Given the description of an element on the screen output the (x, y) to click on. 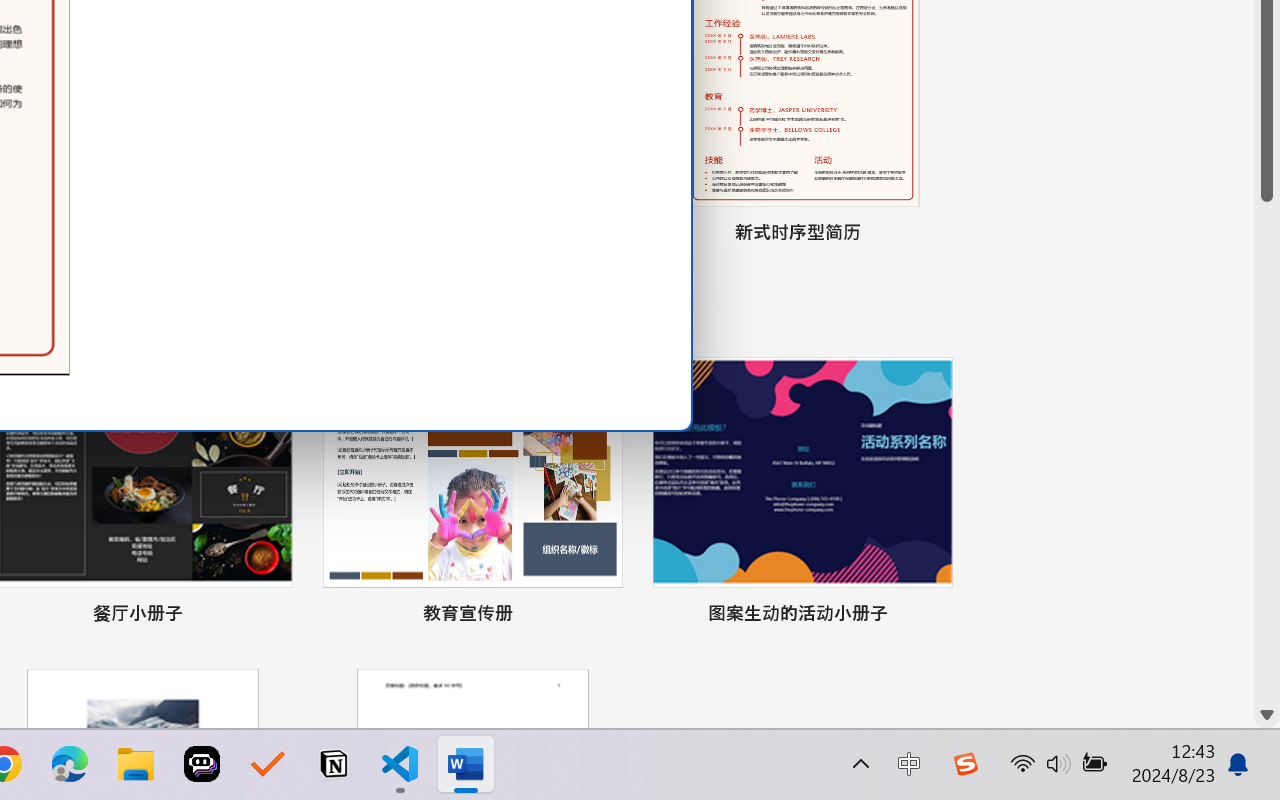
Microsoft Edge (69, 764)
Page down (1267, 451)
Line down (1267, 715)
Pin to list (934, 616)
